Given the description of an element on the screen output the (x, y) to click on. 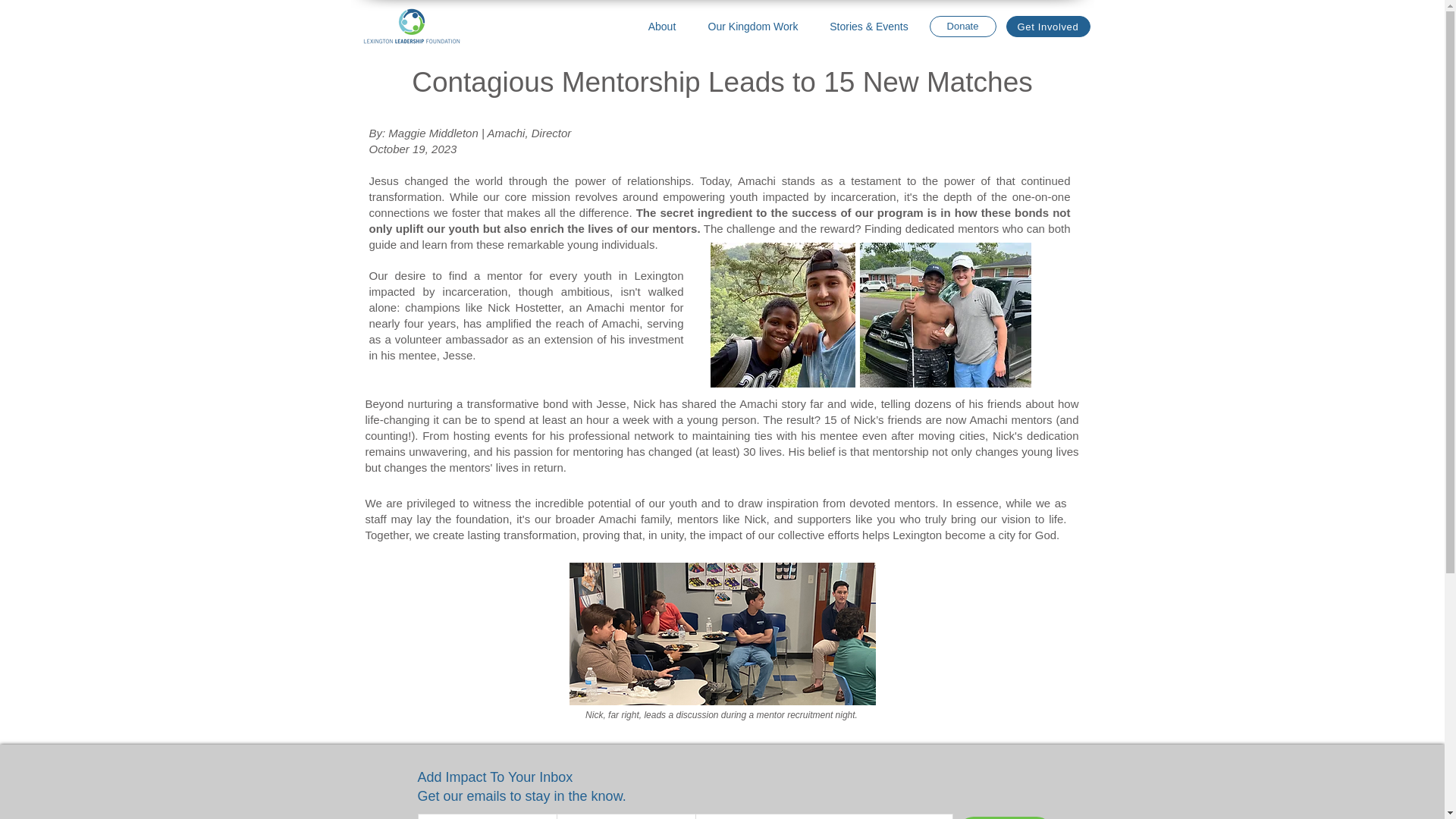
Get Involved (1047, 25)
119AFBC1-1F4C-4CA3-AD79-55C8745FC803.HEI (722, 633)
Donate (962, 26)
SUBSCRIBE (1003, 817)
Our Kingdom Work (752, 26)
About (662, 26)
